Given the description of an element on the screen output the (x, y) to click on. 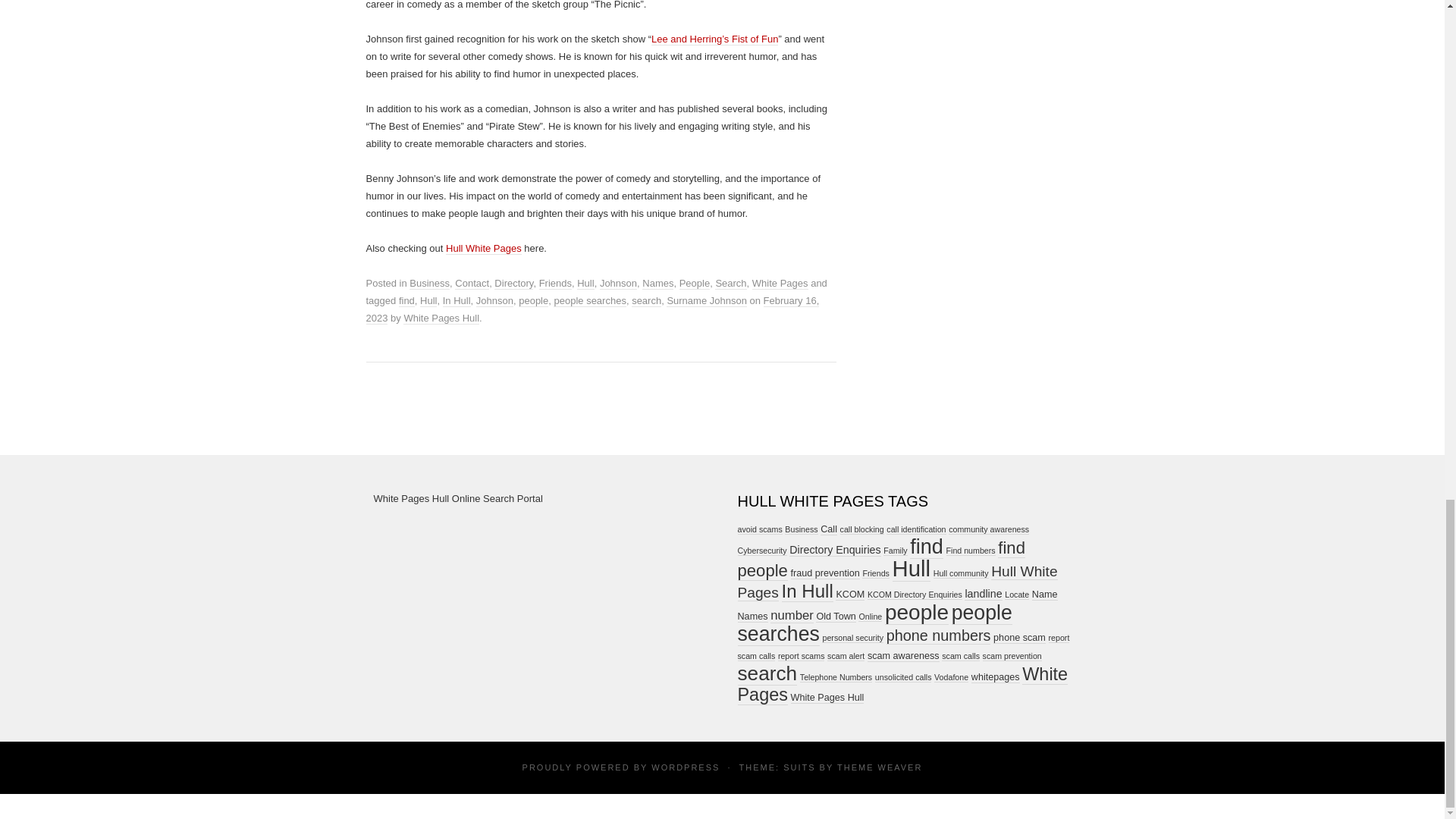
February 16, 2023 (591, 309)
Search (729, 283)
community awareness (989, 529)
Johnson (494, 300)
In Hull (456, 300)
Contact (471, 283)
Hull (585, 283)
Business (429, 283)
Business (800, 529)
call identification (915, 529)
people searches (589, 300)
search (646, 300)
call blocking (861, 529)
avoid scams (758, 529)
Hull (428, 300)
